Given the description of an element on the screen output the (x, y) to click on. 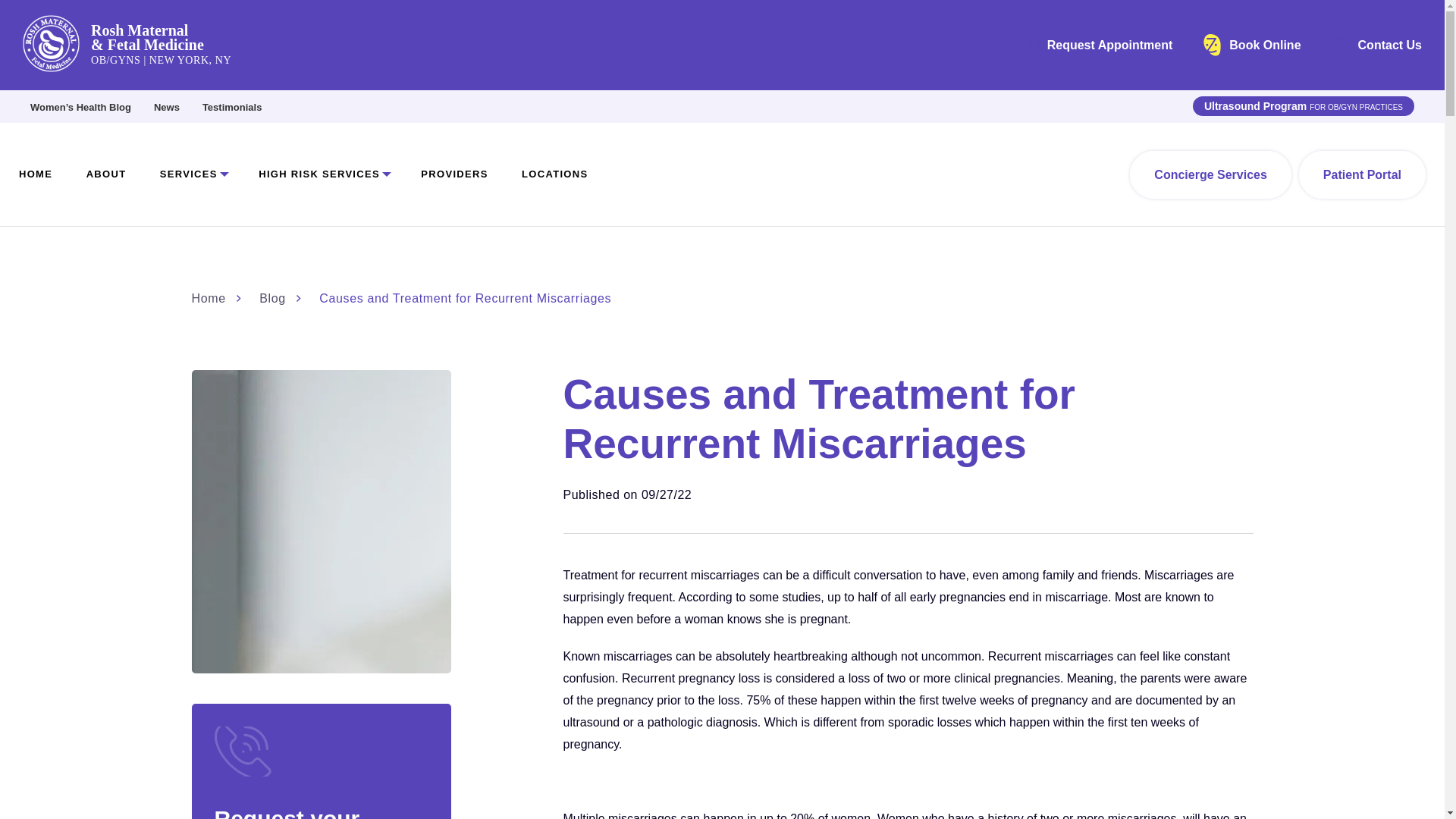
Concierge Services (1210, 173)
Book Online (1251, 45)
Request Appointment (1096, 45)
Contact Us (1377, 45)
News (166, 107)
PROVIDERS (469, 174)
Patient Portal (1361, 173)
Testimonials (232, 107)
HIGH RISK SERVICES (334, 174)
